Given the description of an element on the screen output the (x, y) to click on. 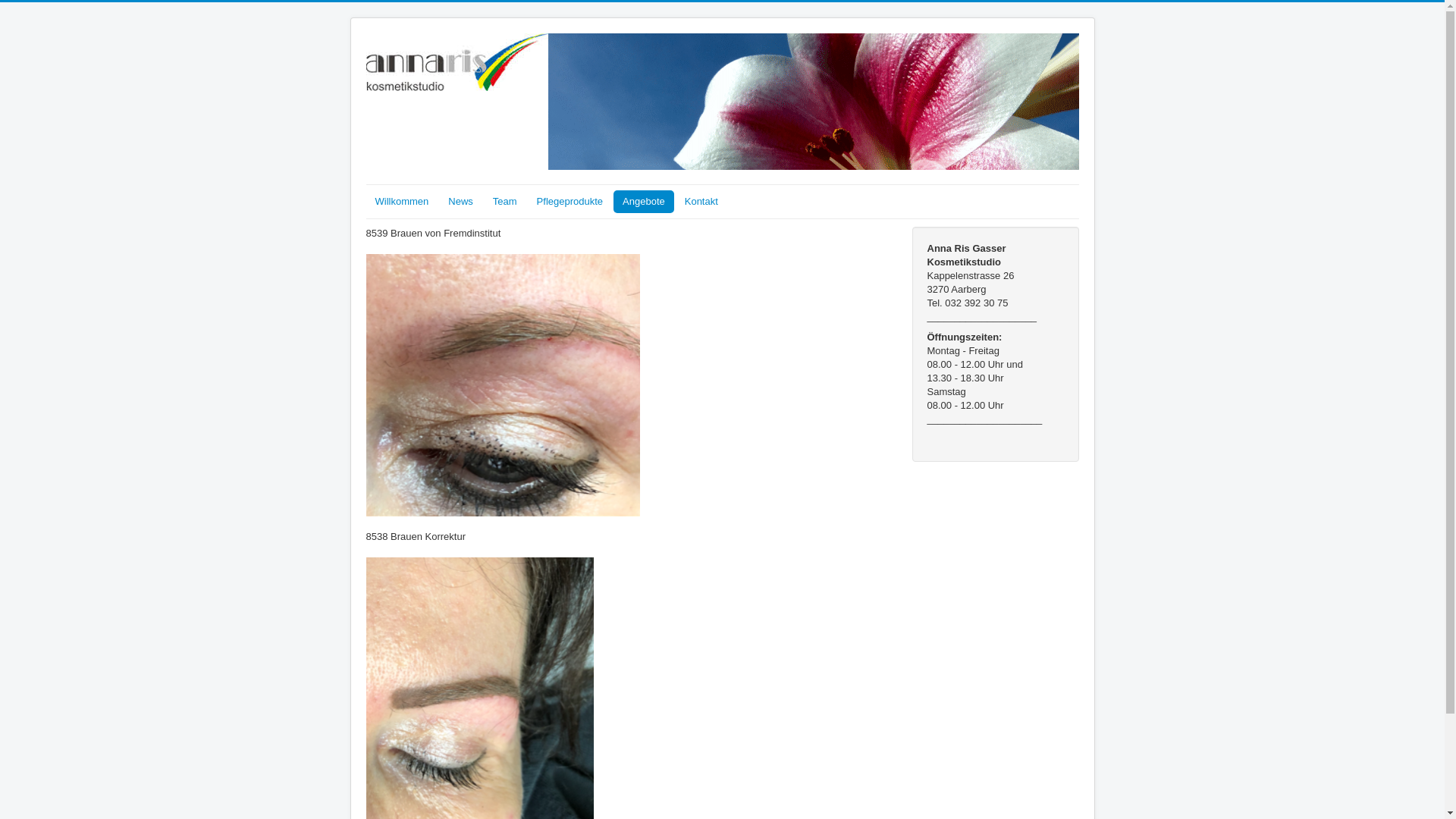
Angebote Element type: text (643, 201)
Willkommen Element type: text (401, 201)
News Element type: text (460, 201)
Pflegeprodukte Element type: text (569, 201)
Kontakt Element type: text (701, 201)
Team Element type: text (504, 201)
